Given the description of an element on the screen output the (x, y) to click on. 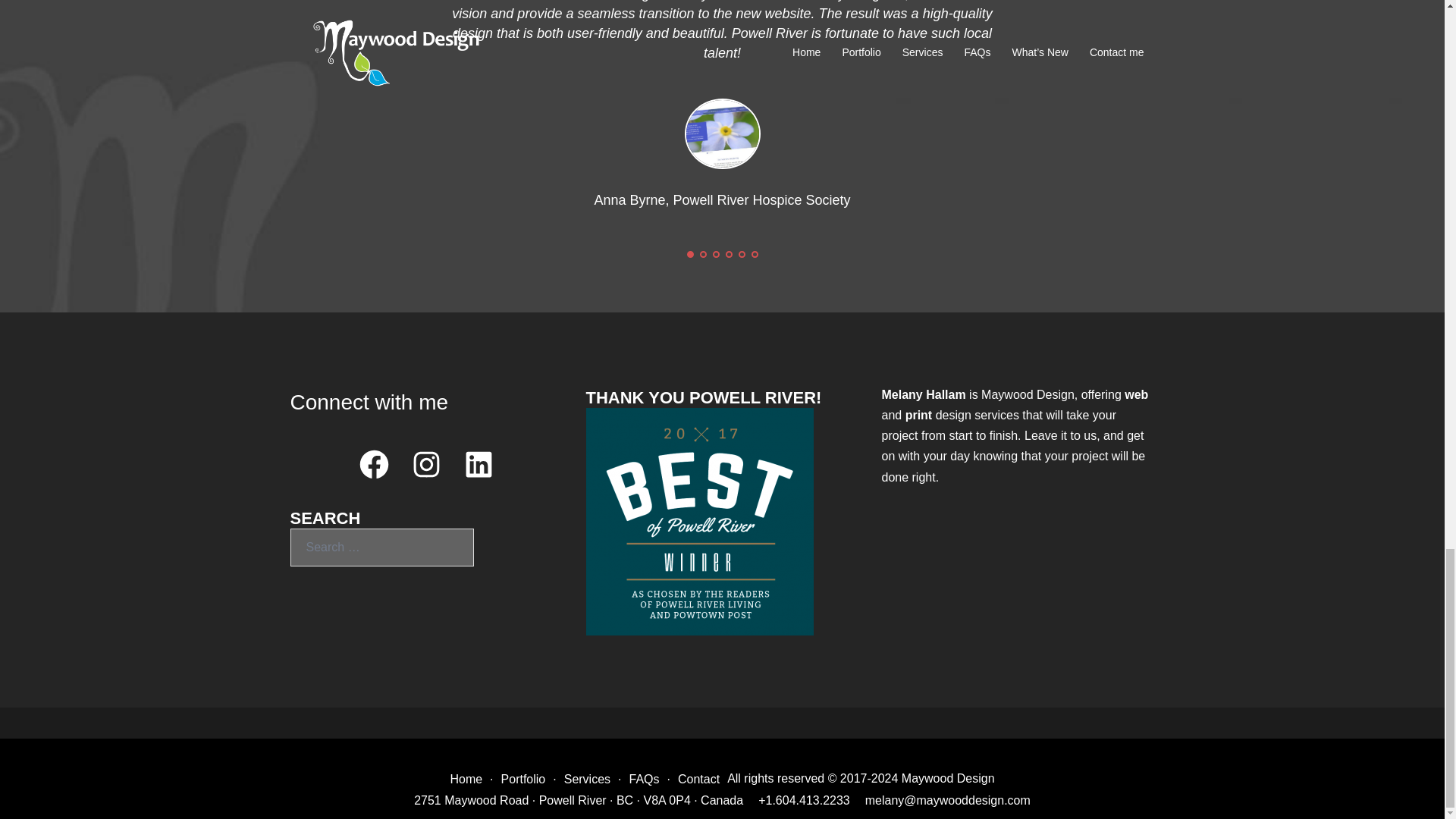
LinkedIn (478, 464)
Services (587, 779)
Home (465, 779)
Facebook (373, 464)
Instagram (426, 464)
Contact (698, 779)
FAQs (643, 779)
Portfolio (523, 779)
